Given the description of an element on the screen output the (x, y) to click on. 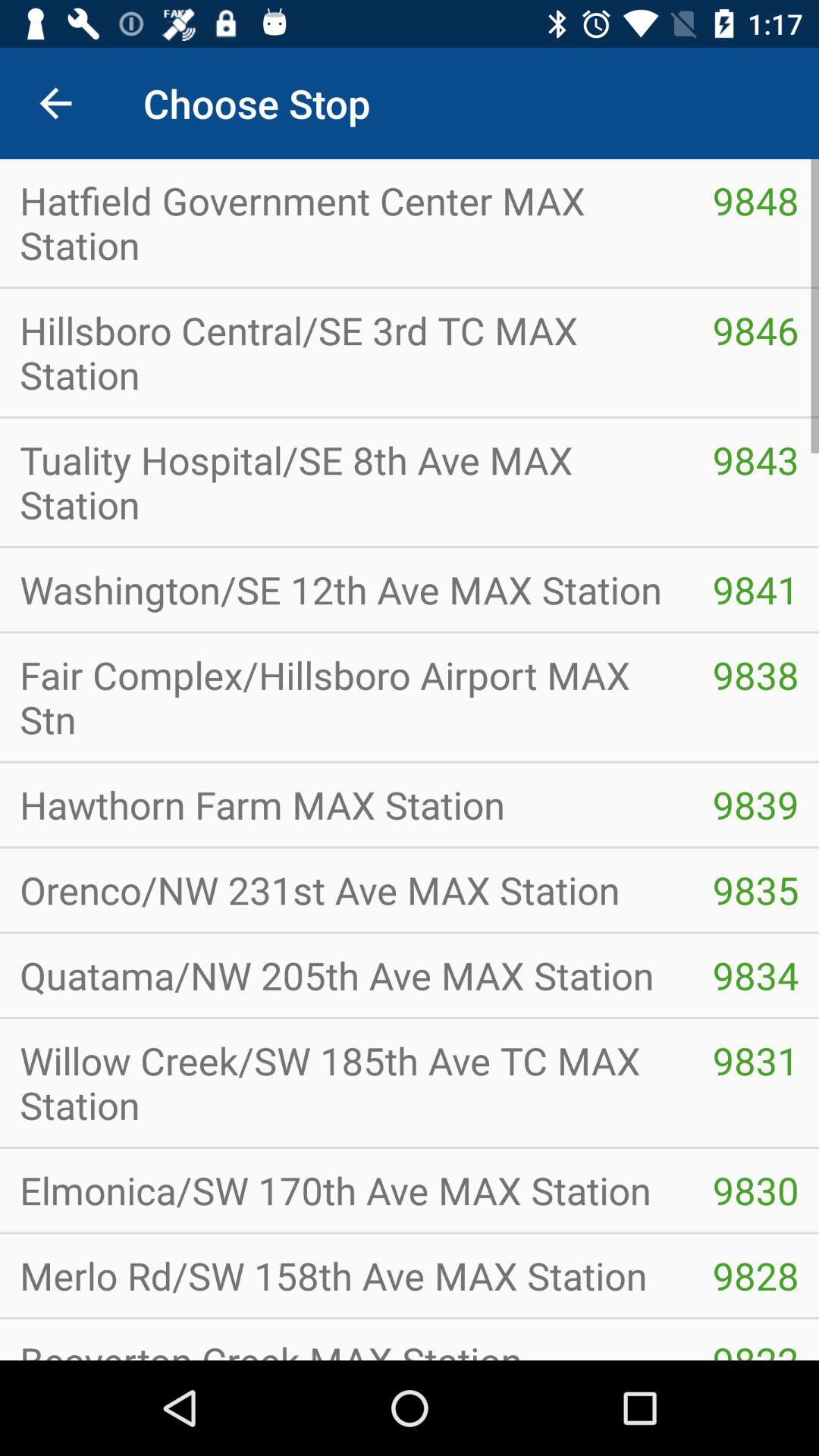
click the item next to the 9843 (346, 482)
